Given the description of an element on the screen output the (x, y) to click on. 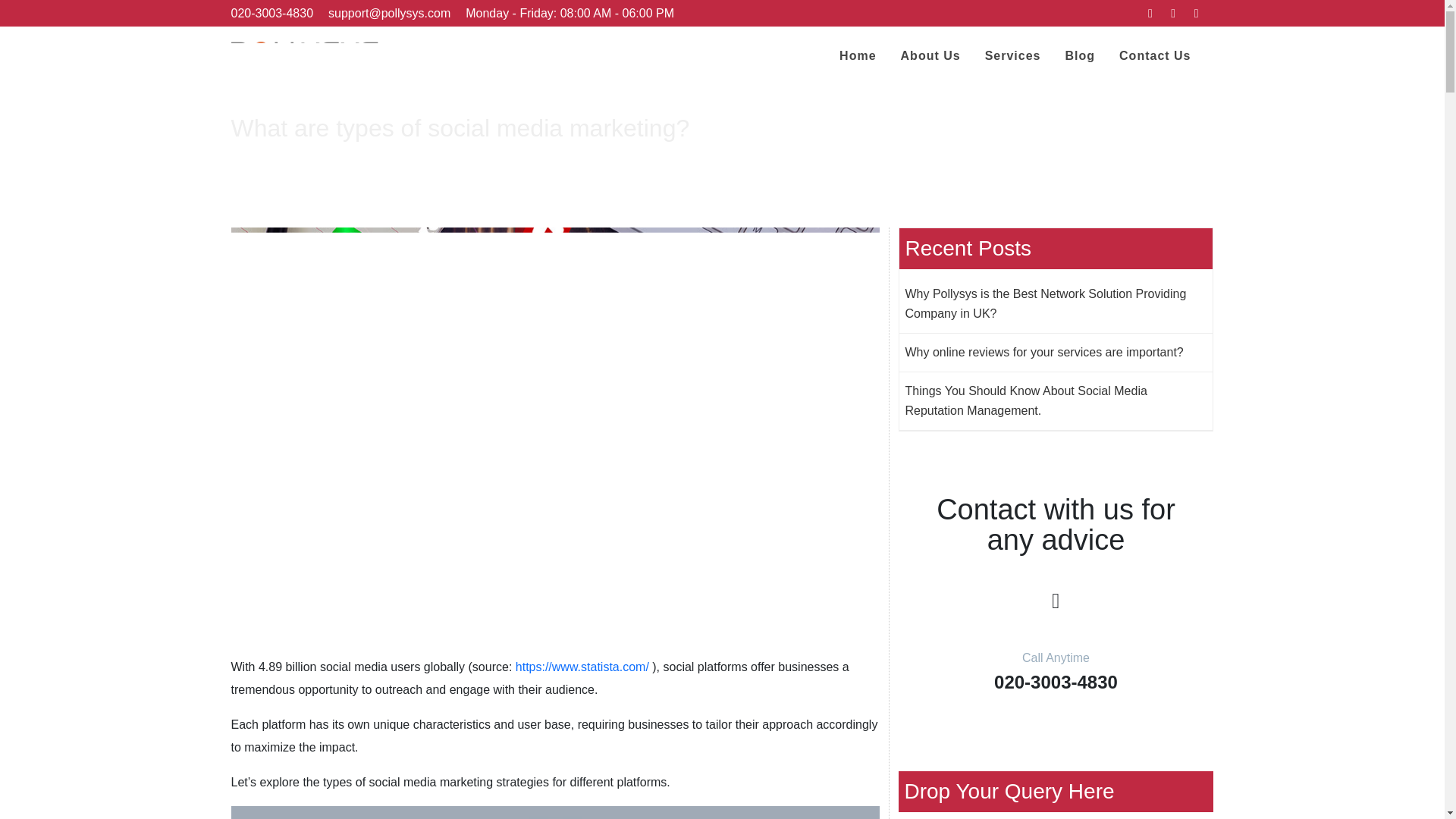
Monday - Friday: 08:00 AM - 06:00 PM (569, 12)
020-3003-4830 (271, 12)
About Us (930, 55)
Home (857, 55)
